Given the description of an element on the screen output the (x, y) to click on. 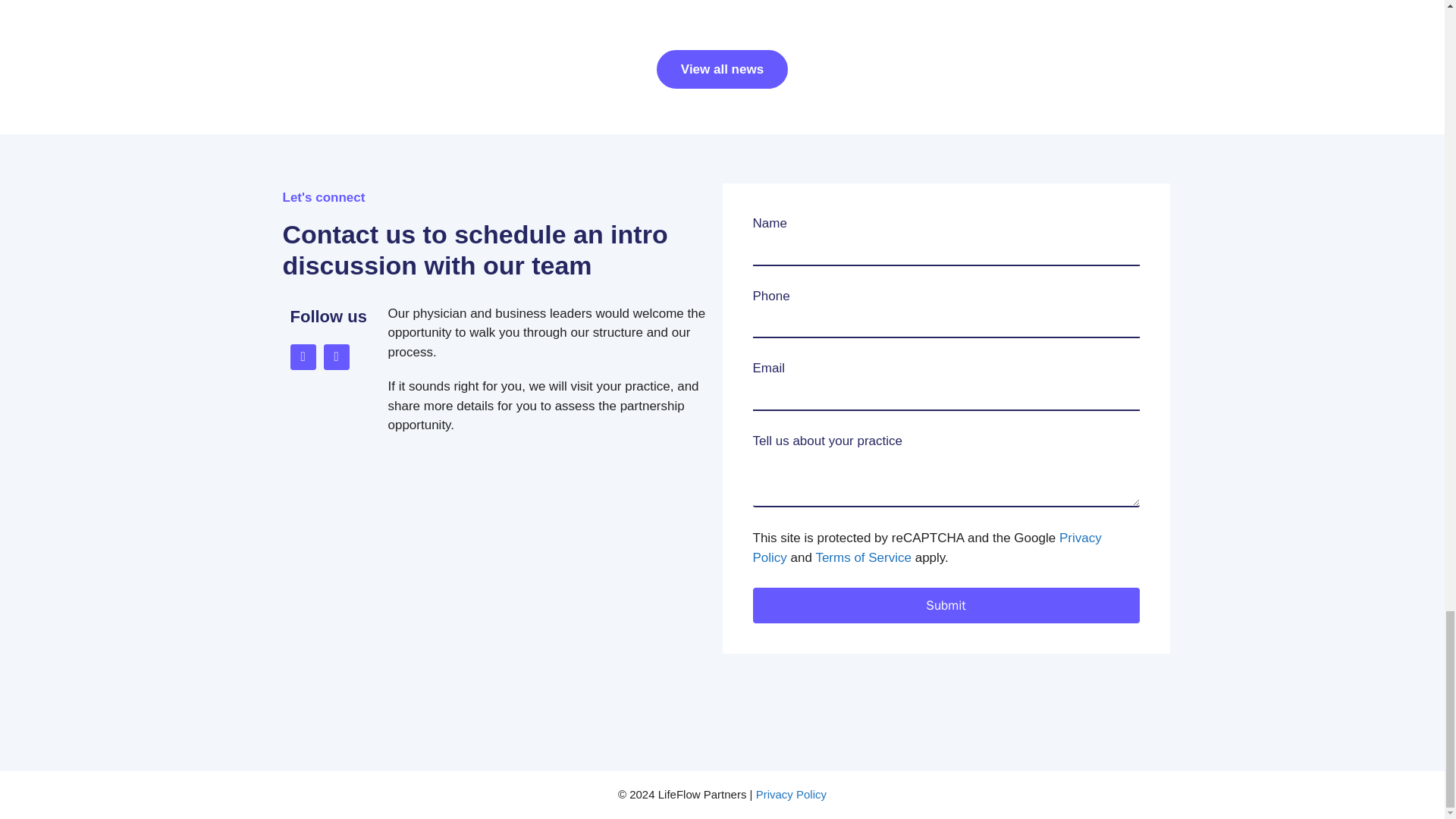
Privacy Policy (926, 547)
Terms of Service (863, 557)
View all news (721, 68)
Submit (945, 605)
Privacy Policy (791, 793)
